Given the description of an element on the screen output the (x, y) to click on. 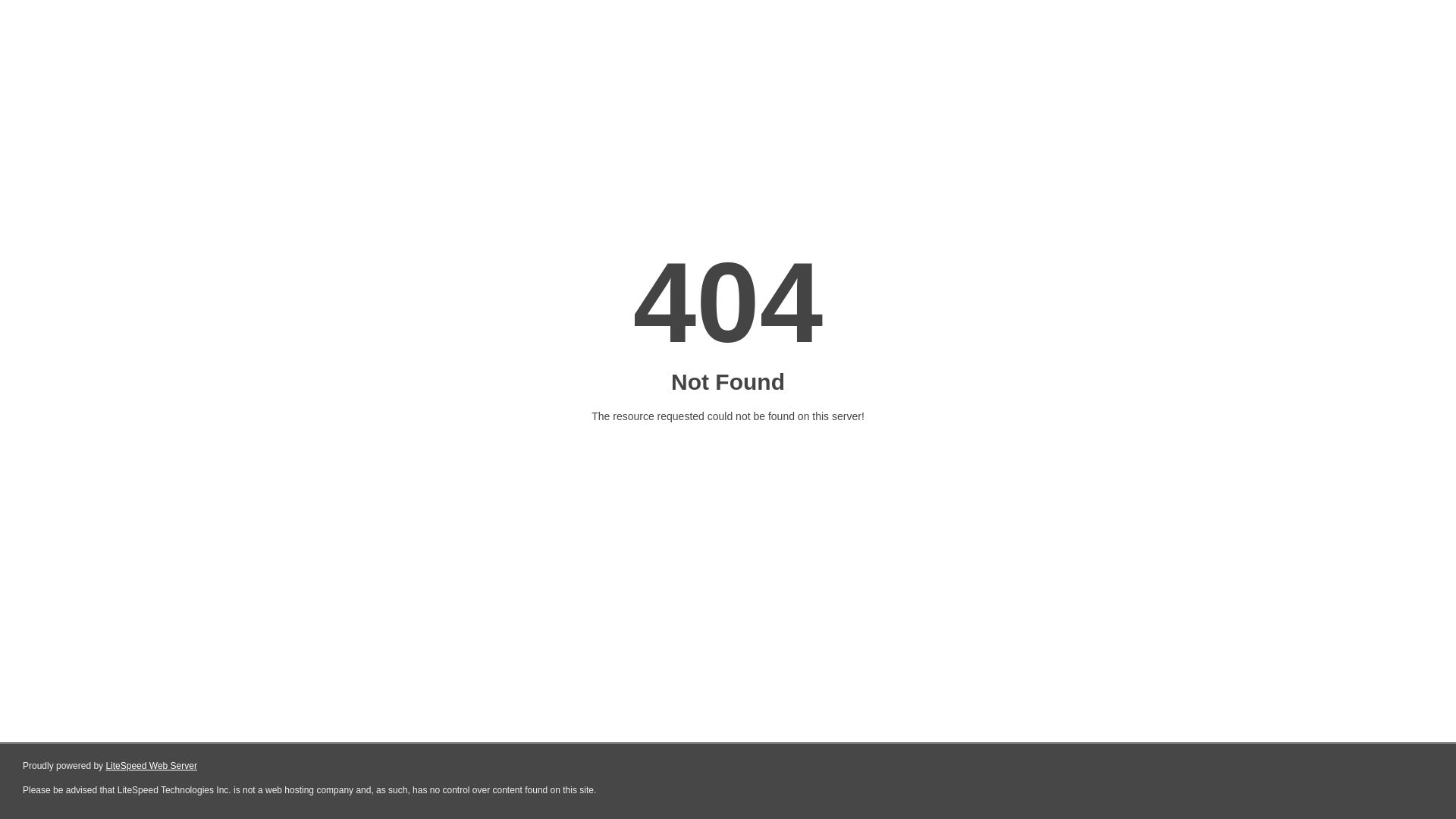
LiteSpeed Web Server Element type: text (151, 765)
